Given the description of an element on the screen output the (x, y) to click on. 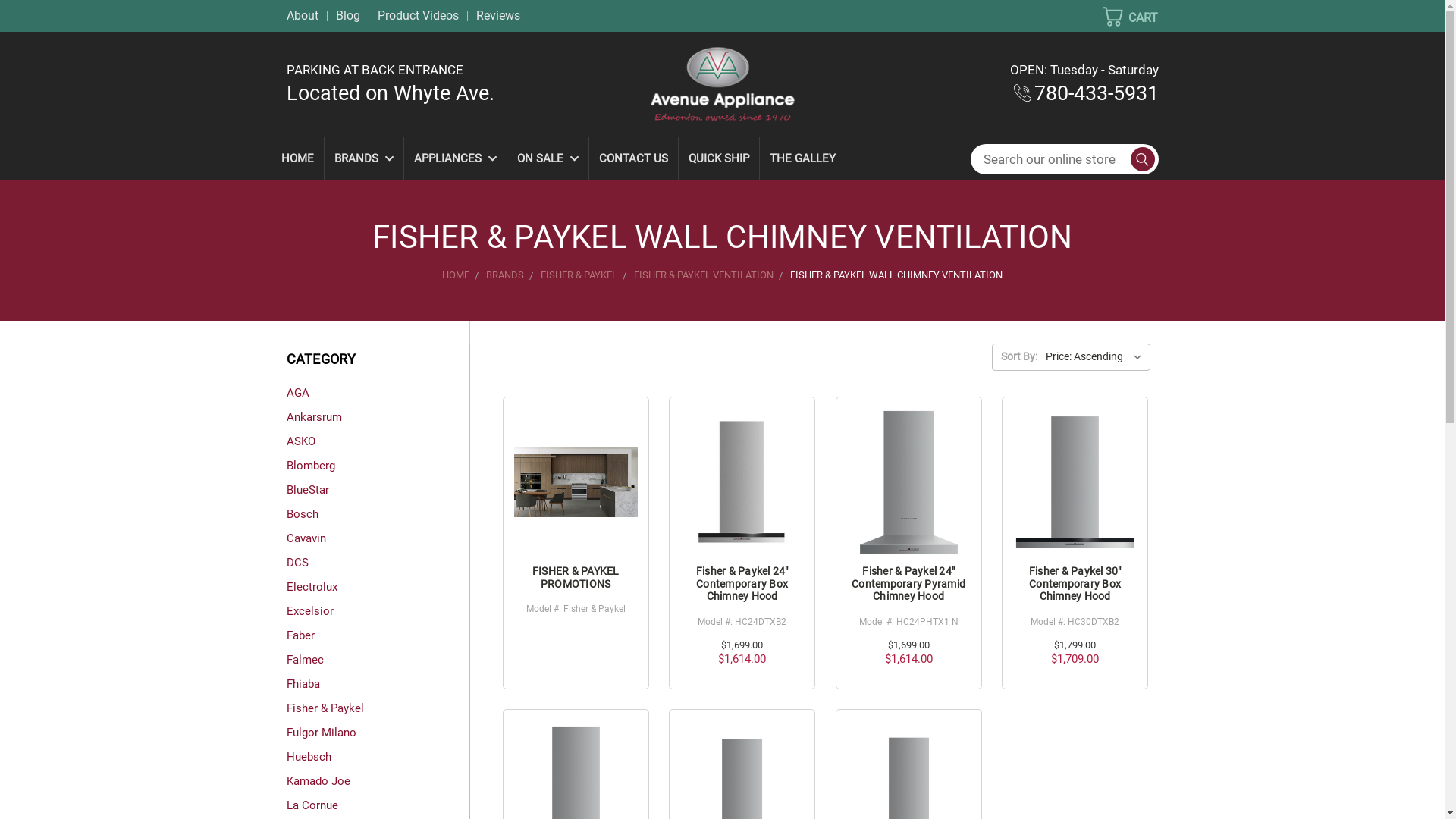
Huebsch Element type: text (378, 756)
Fisher & Paykel Element type: text (378, 708)
APPLIANCES Element type: text (454, 158)
Faber Element type: text (378, 635)
Avenue Appliance Element type: hover (722, 84)
HOME Element type: text (297, 158)
THE GALLEY Element type: text (802, 158)
BRANDS Element type: text (363, 158)
Product Videos Element type: text (418, 15)
FISHER & PAYKEL Element type: text (578, 274)
Fisher & Paykel 30" Contemporary Box Chimney Hood Element type: hover (1074, 481)
Blomberg Element type: text (378, 465)
BlueStar Element type: text (378, 489)
HOME Element type: text (455, 274)
About Element type: text (306, 15)
ON SALE Element type: text (546, 158)
FISHER & PAYKEL PROMOTIONS Element type: hover (575, 482)
Kamado Joe Element type: text (378, 780)
FISHER & PAYKEL PROMOTIONS Element type: text (575, 576)
Fulgor Milano Element type: text (378, 732)
ASKO Element type: text (378, 441)
Fisher & Paykel 24" Contemporary Box Chimney Hood Element type: hover (741, 482)
Excelsior Element type: text (378, 611)
Fisher & Paykel 24" Contemporary Pyramid Chimney Hood Element type: text (908, 583)
Electrolux Element type: text (378, 586)
CONTACT US Element type: text (632, 158)
Bosch Element type: text (378, 514)
Fisher & Paykel 24" Contemporary Box Chimney Hood Element type: text (742, 583)
Ankarsrum Element type: text (378, 416)
780-433-5931 Element type: text (1085, 93)
FISHER & PAYKEL VENTILATION Element type: text (703, 274)
AGA Element type: text (378, 392)
Blog Element type: text (347, 15)
Submit Search Element type: hover (1137, 158)
Fisher & Paykel 30" Contemporary Box Chimney Hood Element type: text (1075, 583)
BRANDS Element type: text (505, 274)
QUICK SHIP Element type: text (717, 158)
Cavavin Element type: text (378, 538)
Fhiaba Element type: text (378, 683)
Falmec Element type: text (378, 659)
La Cornue Element type: text (378, 805)
Gift Certificates Element type: hover (1119, 42)
Fisher & Paykel 24" Contemporary Pyramid Chimney Hood Element type: hover (908, 481)
DCS Element type: text (378, 562)
Reviews Element type: text (497, 15)
submit Element type: hover (1141, 159)
